Given the description of an element on the screen output the (x, y) to click on. 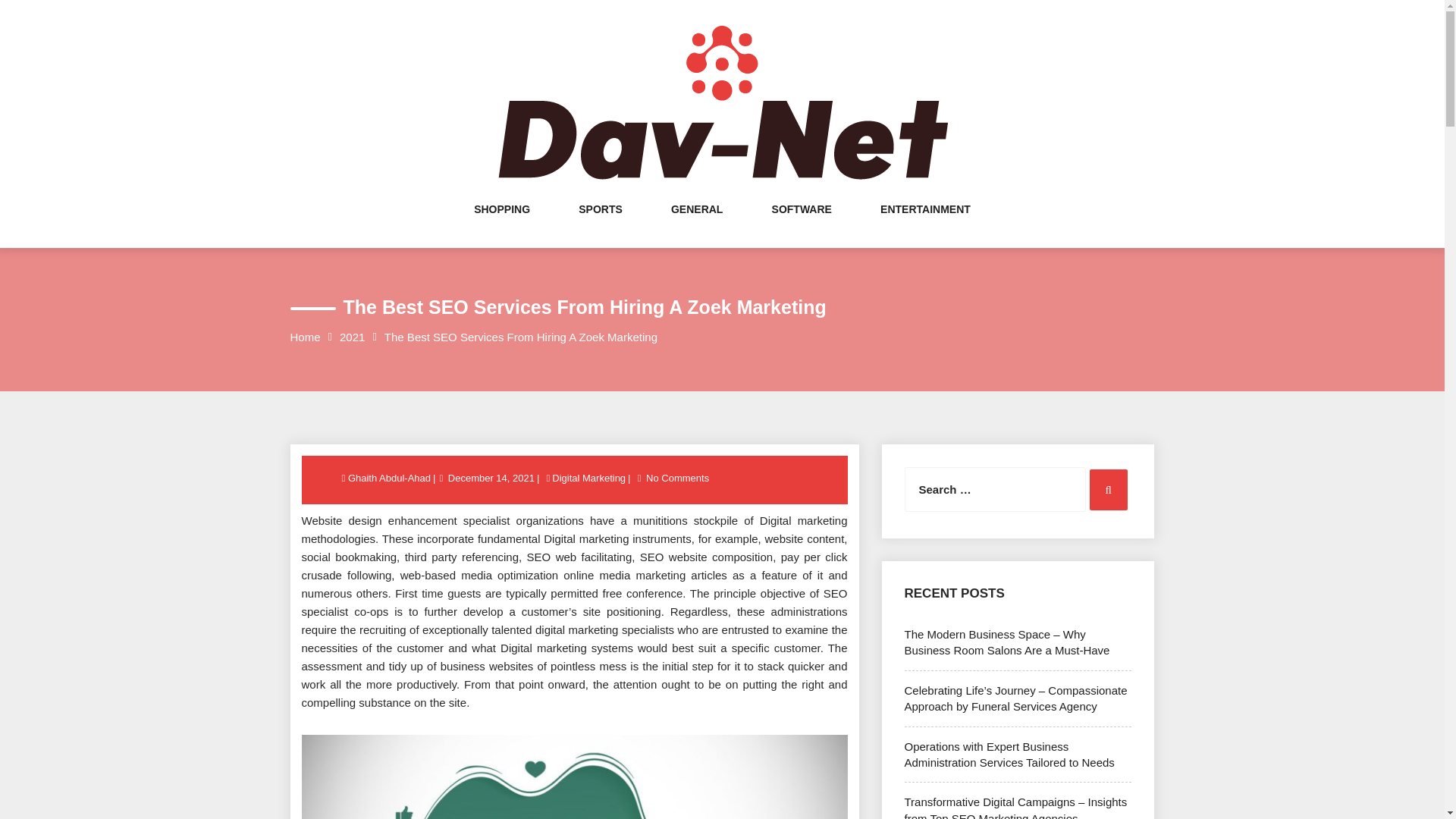
No Comments (677, 478)
Home (304, 336)
Ghaith Abdul-Ahad (389, 478)
December 14, 2021 (491, 478)
SPORTS (600, 225)
SOFTWARE (801, 225)
SHOPPING (501, 225)
ENTERTAINMENT (925, 225)
Digital Marketing (588, 478)
